Given the description of an element on the screen output the (x, y) to click on. 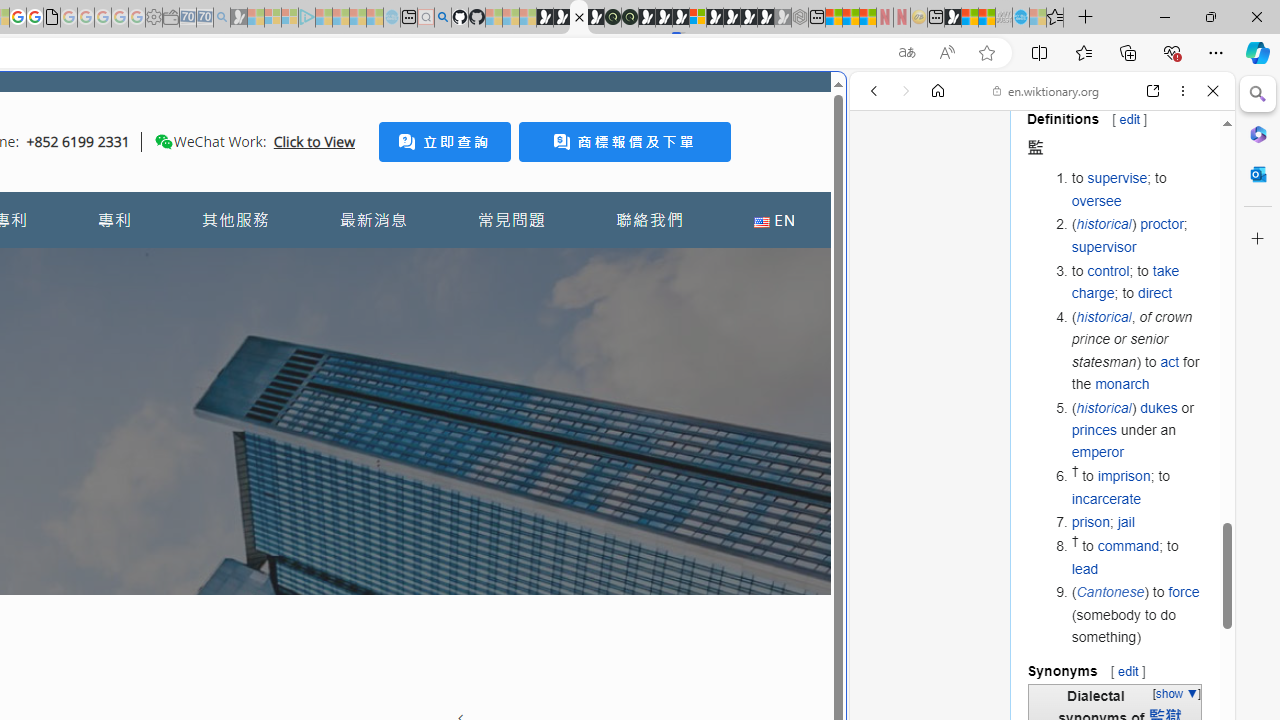
Play Zoo Boom in your browser | Games from Microsoft Start (561, 17)
Search Filter, WEB (882, 228)
control (1108, 270)
historical (1103, 407)
prison (1090, 522)
This site scope (936, 180)
to supervise; to oversee (1137, 189)
New tab (936, 17)
VIDEOS (1006, 228)
